Given the description of an element on the screen output the (x, y) to click on. 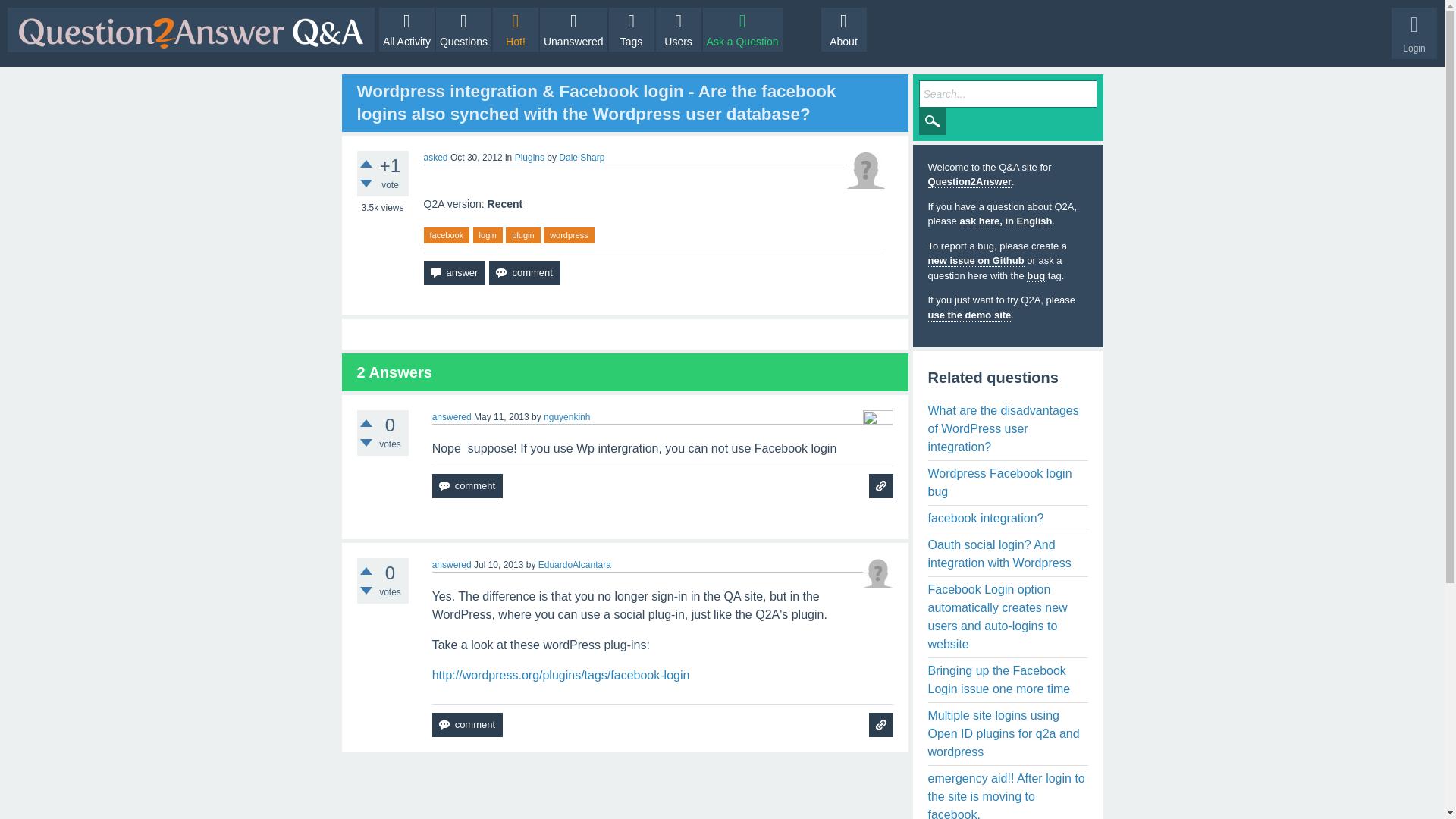
All Activity (405, 29)
Dale Sharp (581, 157)
ask related question (881, 485)
Ask a new question relating to this answer (881, 724)
Tags (630, 29)
Search (932, 121)
answer (453, 273)
answer (453, 273)
Plugins (529, 157)
Ask a new question relating to this answer (881, 485)
login (487, 235)
Click to vote up (365, 570)
comment (524, 273)
Ask a Question (743, 29)
Click to vote up (365, 163)
